Given the description of an element on the screen output the (x, y) to click on. 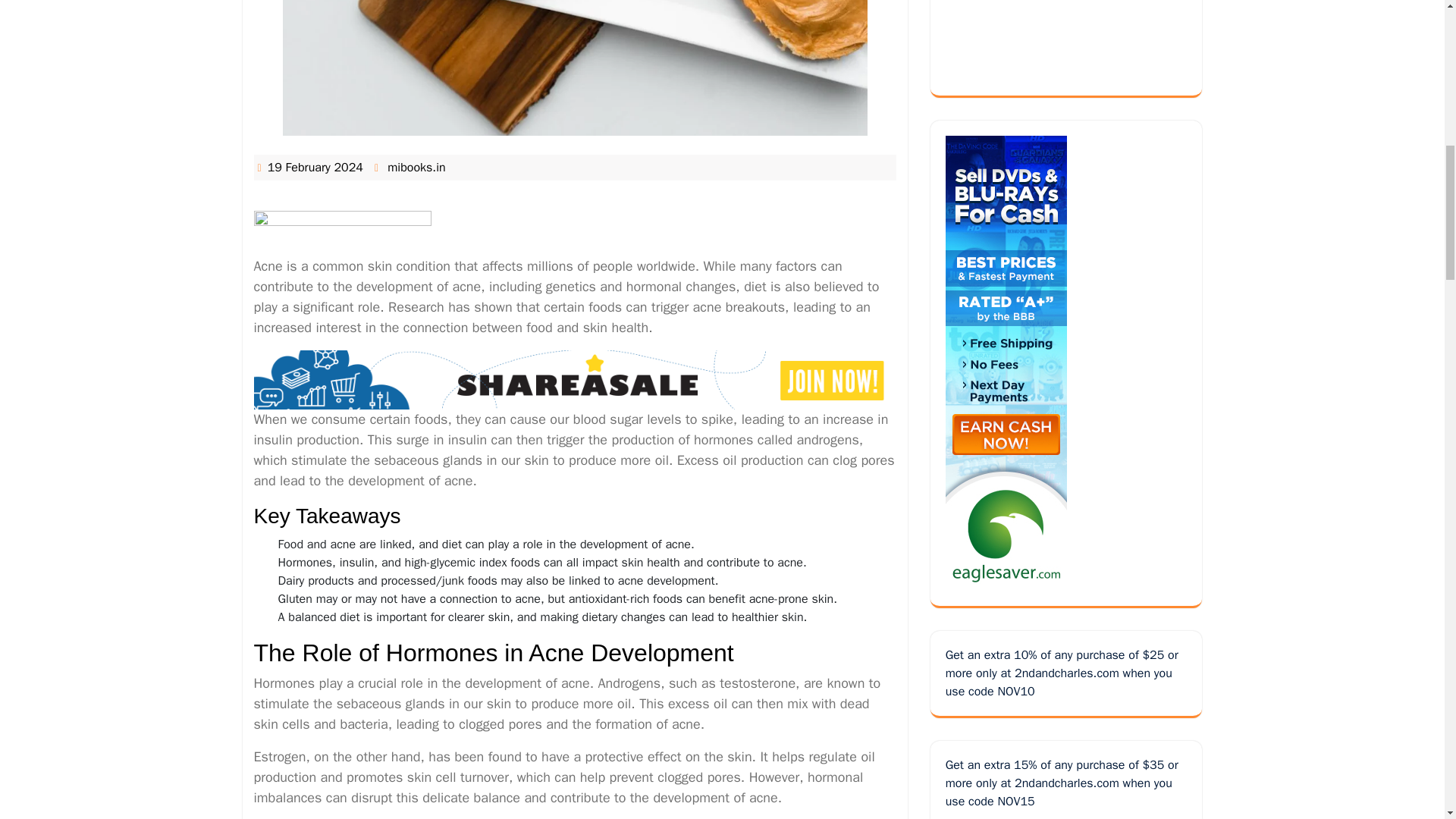
mibooks.in (416, 166)
19 February 2024 (314, 166)
